Given the description of an element on the screen output the (x, y) to click on. 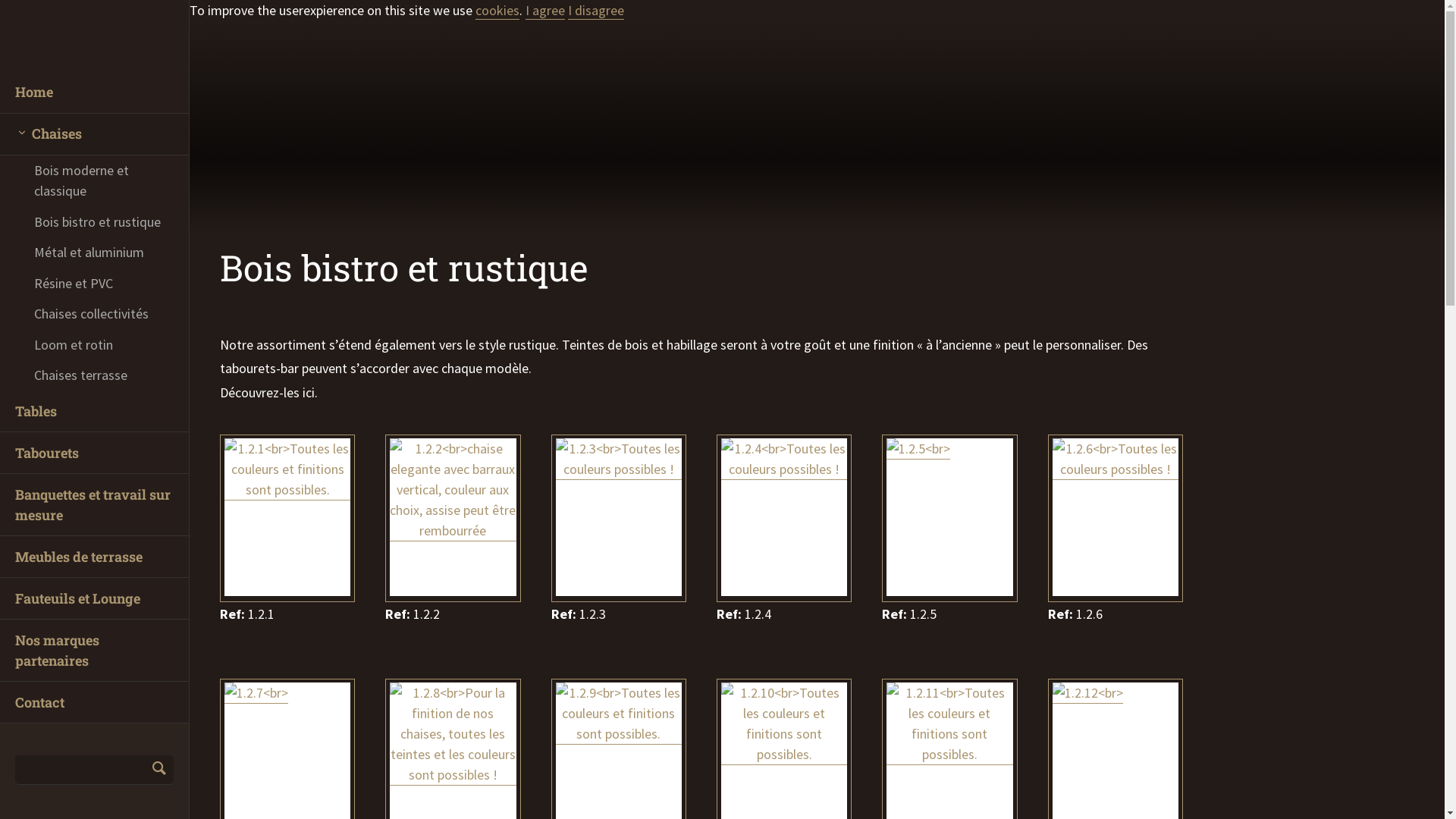
Home Element type: text (94, 91)
Fauteuils et Lounge Element type: text (94, 598)
Bois moderne et classique Element type: text (94, 180)
Chaises Element type: text (94, 134)
I disagree Element type: text (595, 10)
Tables Element type: text (94, 411)
cookies Element type: text (497, 10)
Nos marques partenaires Element type: text (94, 650)
Banquettes et travail sur mesure Element type: text (94, 504)
Astranova Element type: text (92, 35)
Chaises terrasse Element type: text (94, 374)
Bois bistro et rustique Element type: text (94, 221)
Meubles de terrasse Element type: text (94, 556)
Loom et rotin Element type: text (94, 344)
Tabourets Element type: text (94, 452)
Contact Element type: text (94, 702)
I agree Element type: text (544, 10)
